Given the description of an element on the screen output the (x, y) to click on. 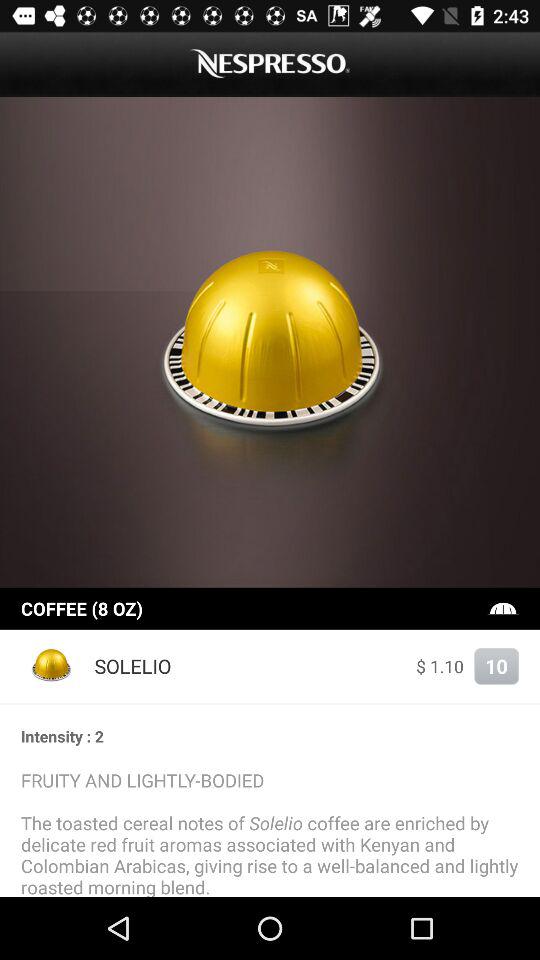
launch the icon to the right of coffee (8 oz) icon (503, 608)
